Given the description of an element on the screen output the (x, y) to click on. 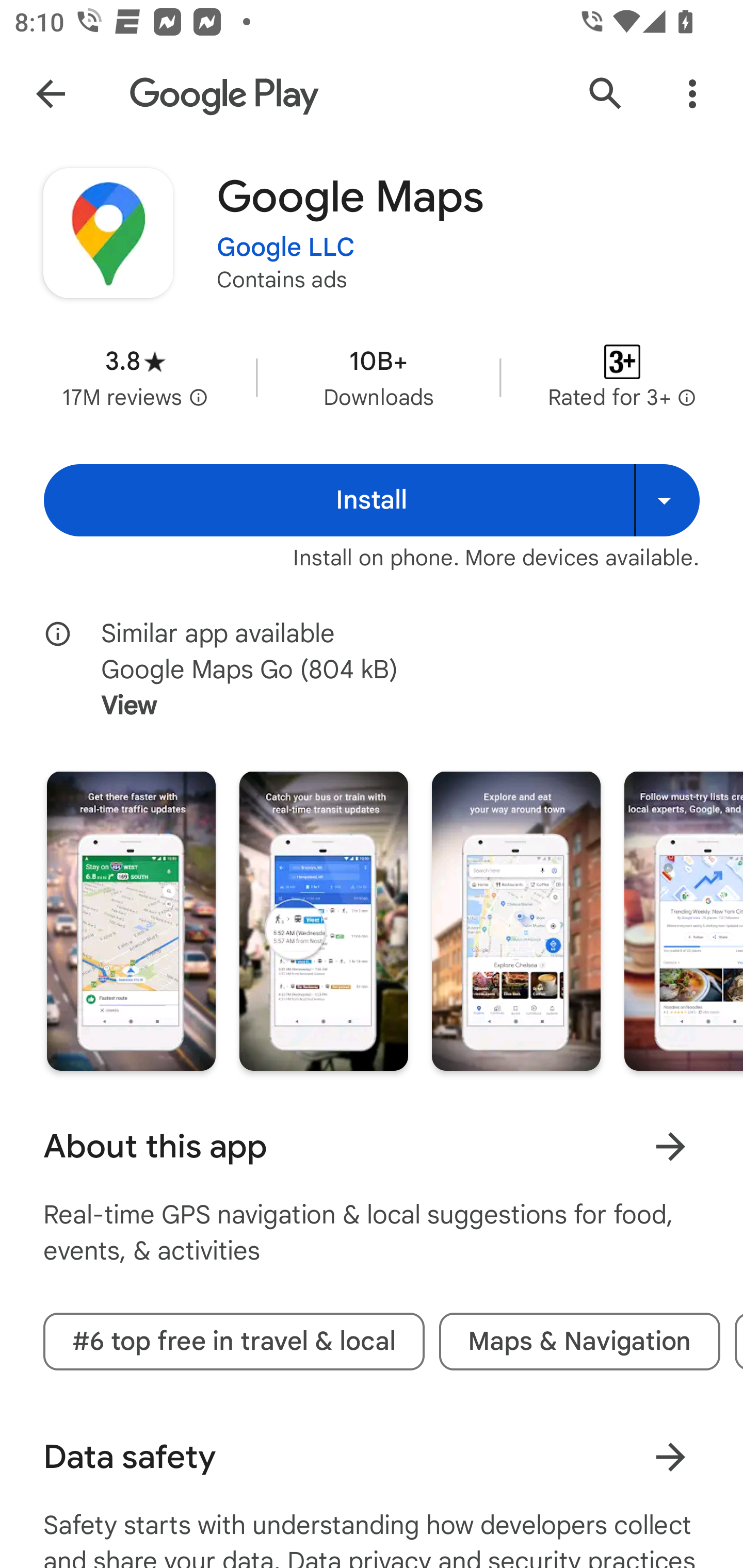
Navigate up (50, 93)
Search Google Play (605, 93)
More Options (692, 93)
Google LLC (285, 247)
Average rating 3.8 stars in 17 million reviews (135, 377)
Content rating Rated for 3+ (622, 377)
Install Install Install on more devices (371, 500)
Install on more devices (667, 500)
Similar app available
Google Maps Go (804 kB)
View (385, 670)
Screenshot "1" of "8" (130, 920)
Screenshot "2" of "8" (323, 920)
Screenshot "3" of "8" (515, 920)
Screenshot "4" of "8" (683, 920)
About this app Learn more About this app (371, 1146)
Learn more About this app (670, 1146)
#6 top free in travel & local tag (233, 1341)
Maps & Navigation tag (579, 1341)
Data safety Learn more about data safety (371, 1457)
Learn more about data safety (670, 1457)
